Given the description of an element on the screen output the (x, y) to click on. 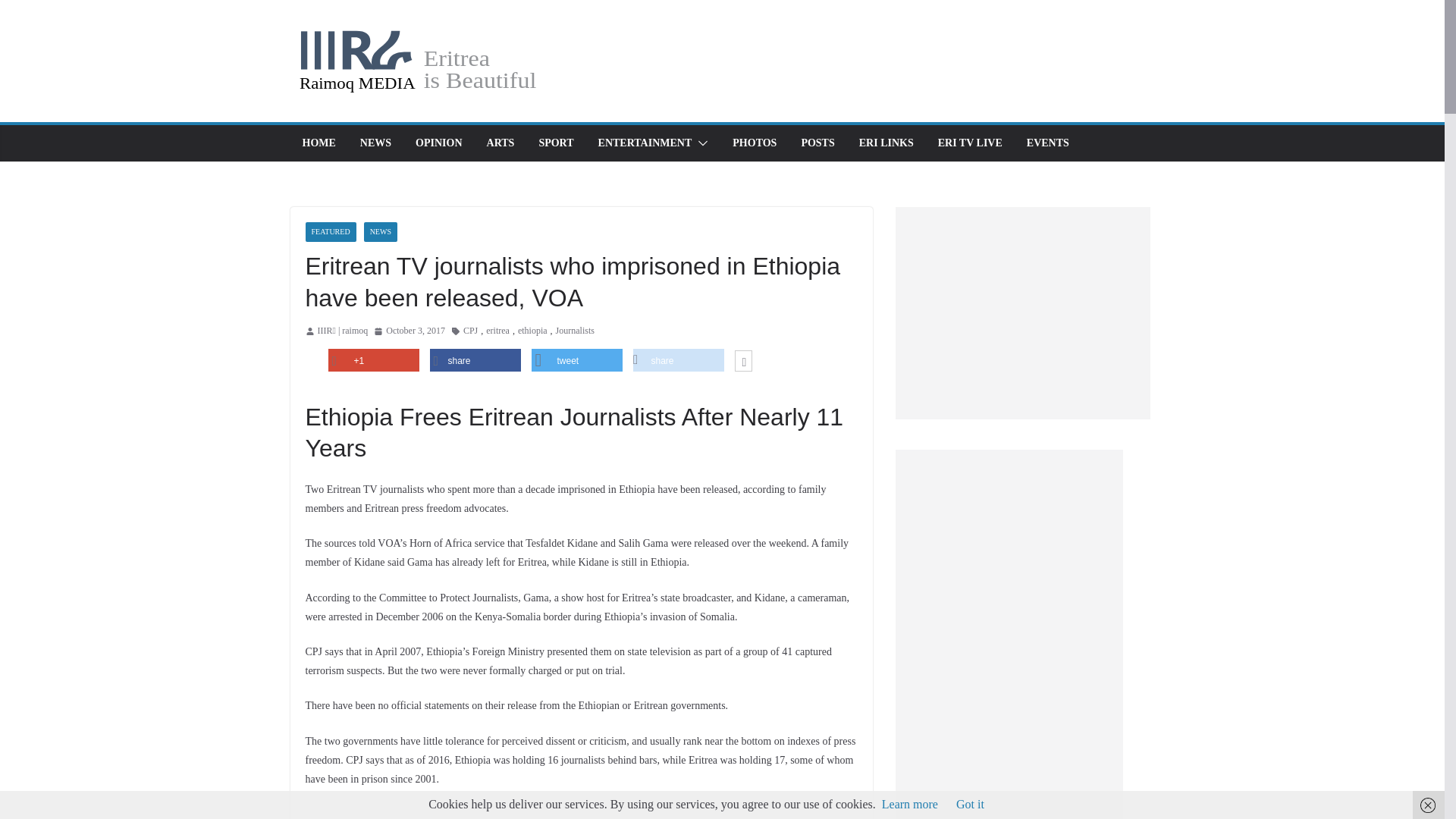
NEWS (380, 231)
Journalists (575, 330)
PHOTOS (754, 142)
share (677, 360)
SPORT (555, 142)
ERI LINKS (886, 142)
NEWS (375, 142)
2:41 pm (409, 330)
OPINION (437, 142)
tweet (576, 360)
